Given the description of an element on the screen output the (x, y) to click on. 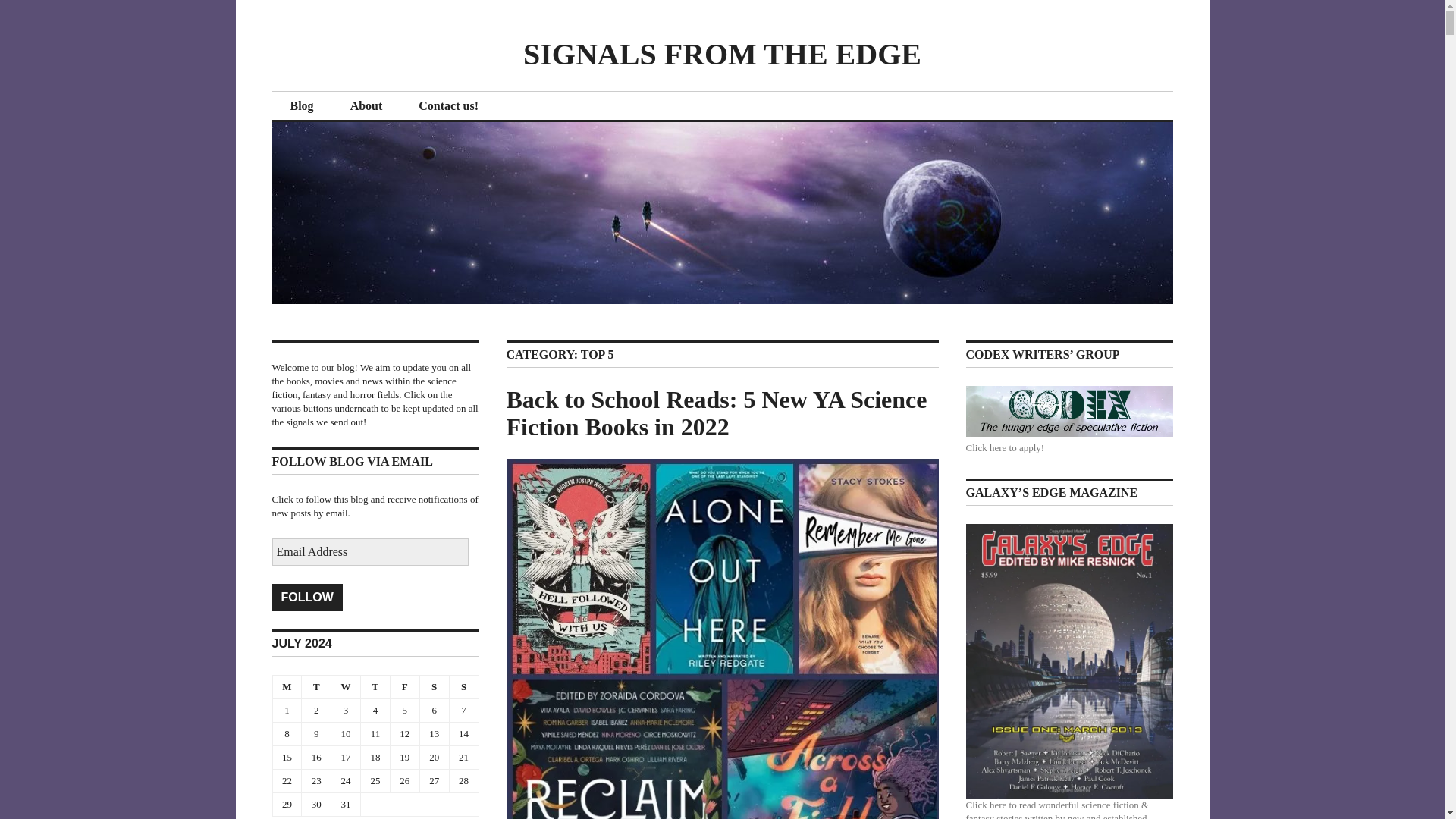
Friday (404, 686)
About (366, 105)
Wednesday (346, 686)
GALAXY'S EDGE MAGAZINE (1069, 661)
Blog (300, 105)
Tuesday (316, 686)
Back to School Reads: 5 New YA Science Fiction Books in 2022 (716, 412)
Saturday (433, 686)
Sunday (463, 686)
Thursday (375, 686)
SIGNALS FROM THE EDGE (721, 53)
Monday (286, 686)
Contact us! (448, 105)
CODEX WRITERS' GROUP (1069, 410)
